Given the description of an element on the screen output the (x, y) to click on. 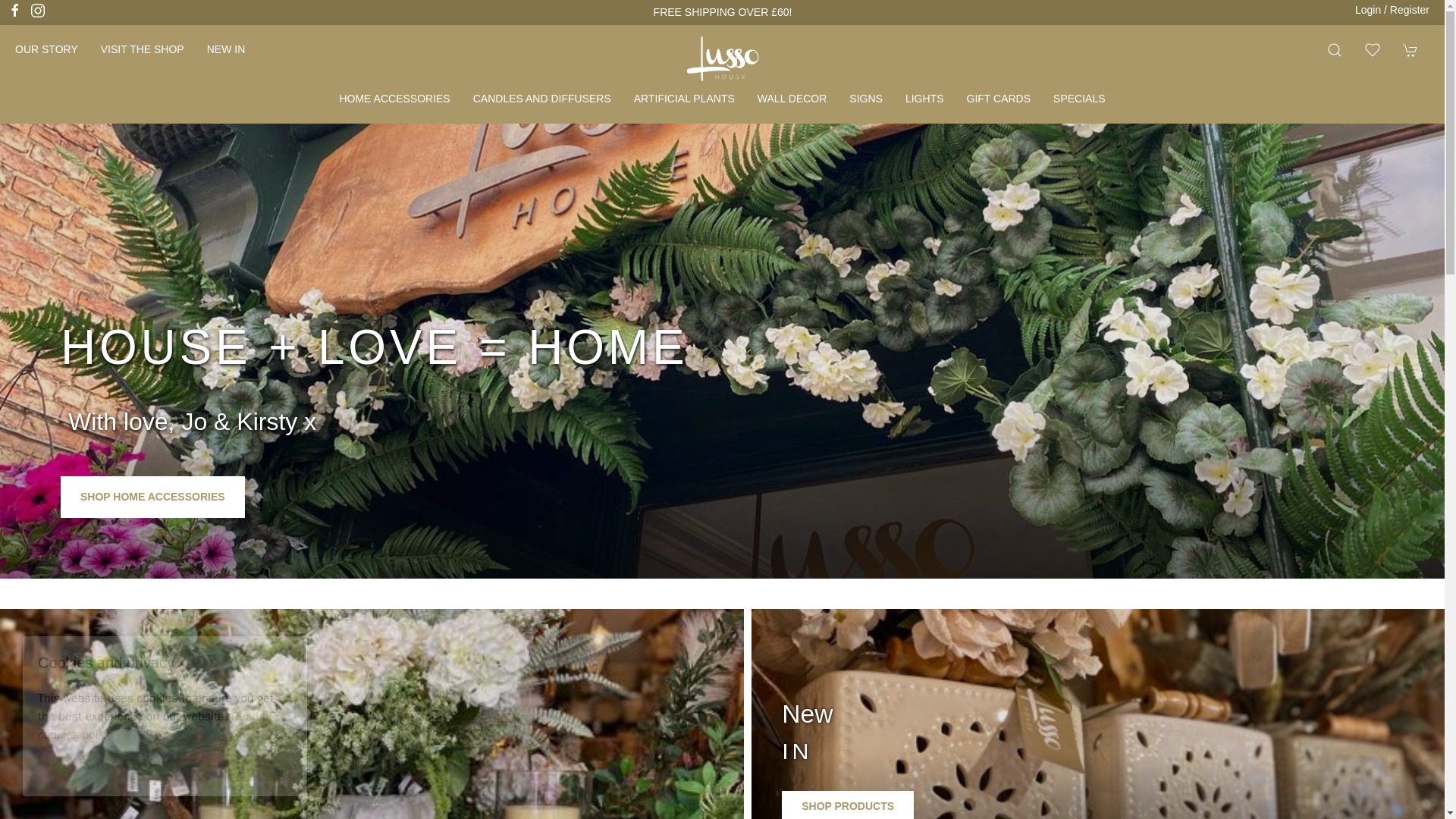
Lusso House Instagram (37, 10)
CANDLES AND DIFFUSERS (542, 98)
ARTIFICIAL PLANTS (684, 98)
Our Lusso House family story (46, 49)
HOME ACCESSORIES (394, 98)
New in (226, 49)
NEW IN (226, 49)
Lusso House (721, 58)
Visit the Lusso House store in Howden (141, 49)
Lusso House Facebook (15, 10)
OUR STORY (46, 49)
VISIT THE SHOP (141, 49)
account login (1392, 10)
